Given the description of an element on the screen output the (x, y) to click on. 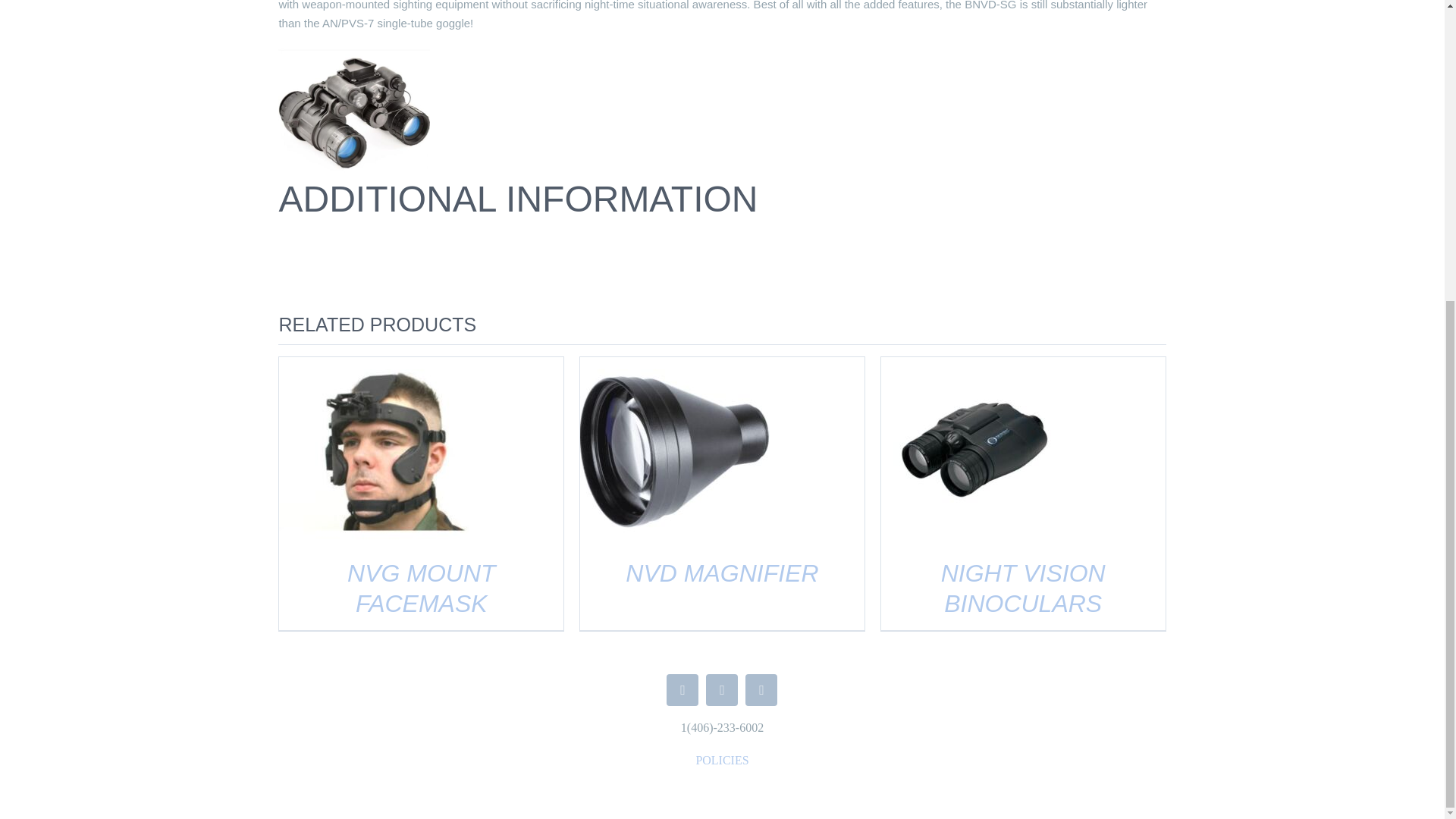
1342 (353, 110)
